Given the description of an element on the screen output the (x, y) to click on. 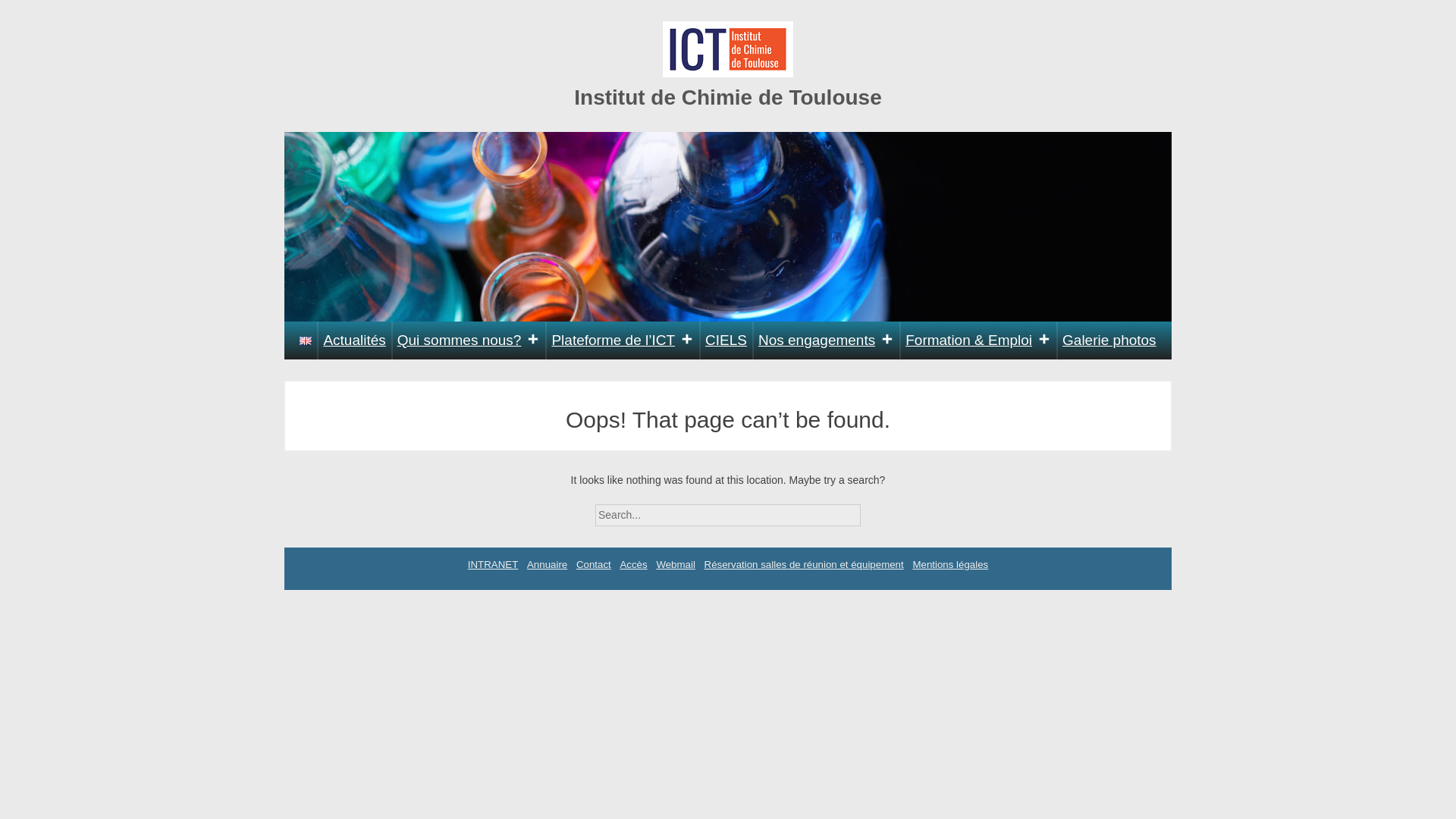
Nos engagements (825, 340)
Search (873, 509)
Search (873, 509)
Institut de Chimie de Toulouse (727, 97)
CIELS (726, 340)
Qui sommes nous? (468, 340)
